Given the description of an element on the screen output the (x, y) to click on. 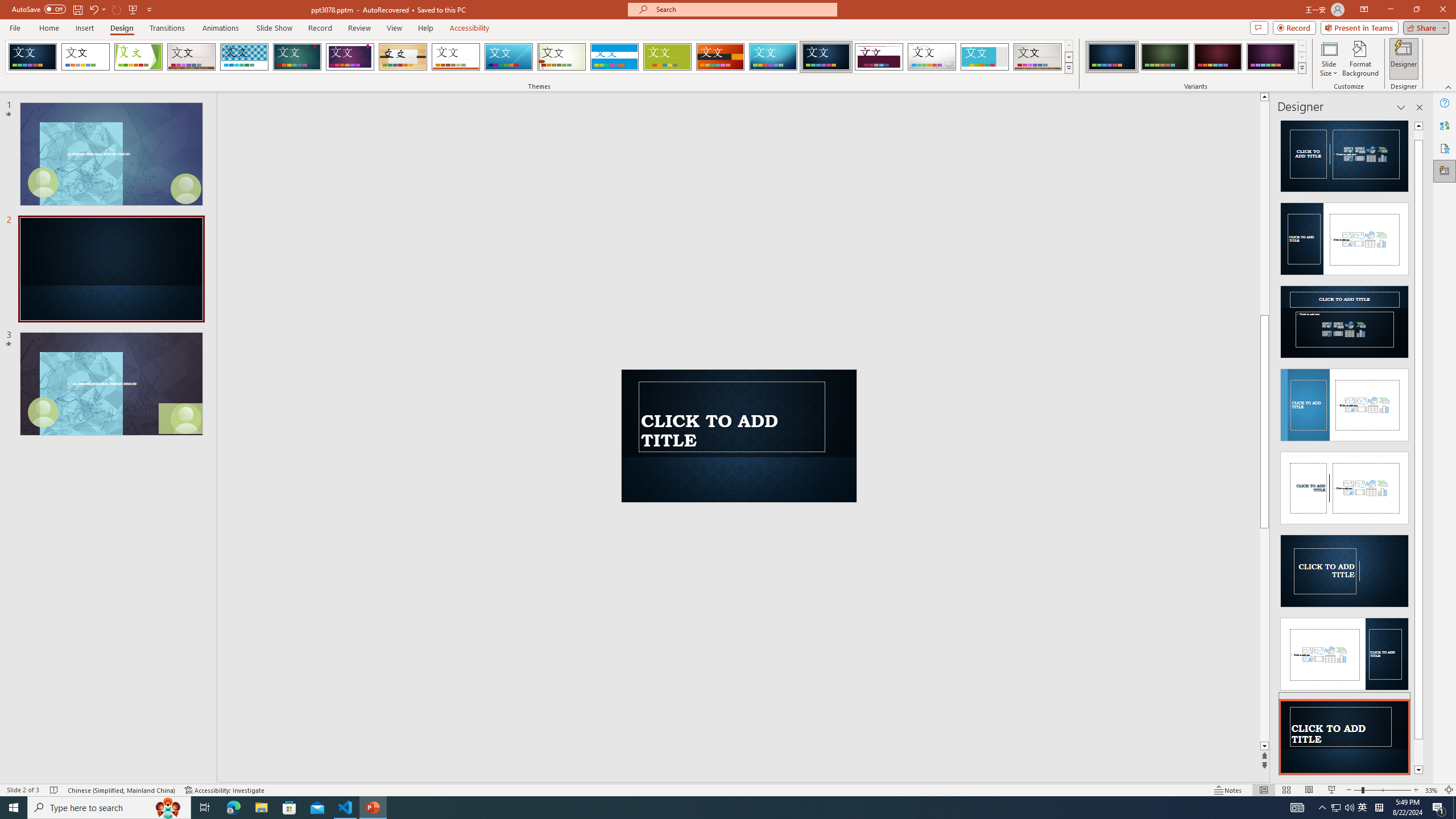
Decorative Locked (738, 413)
Organic (403, 56)
AutomationID: SlideThemesGallery (539, 56)
Circuit (772, 56)
